Given the description of an element on the screen output the (x, y) to click on. 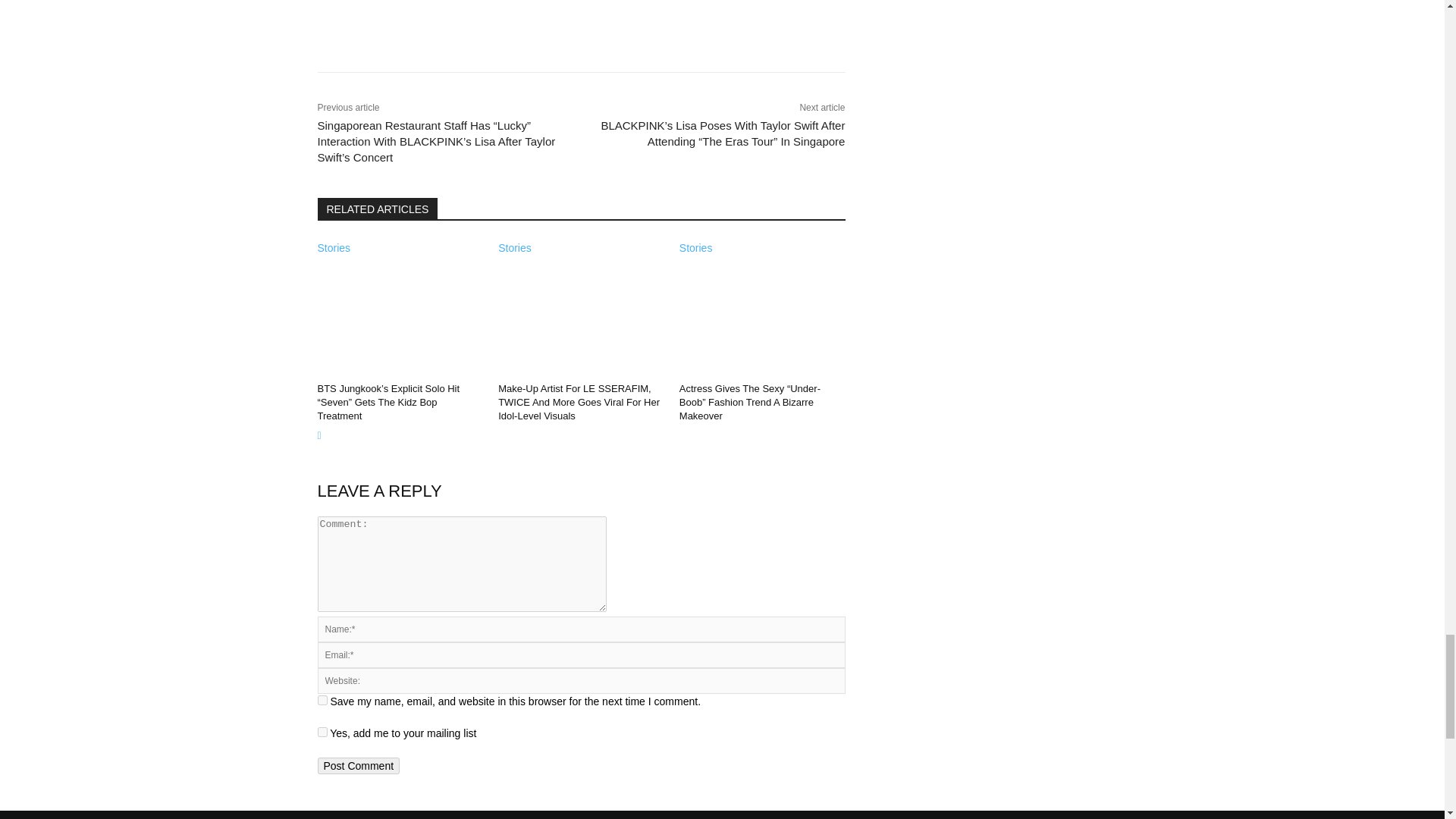
yes (321, 700)
Post Comment (357, 765)
1 (321, 732)
